Given the description of an element on the screen output the (x, y) to click on. 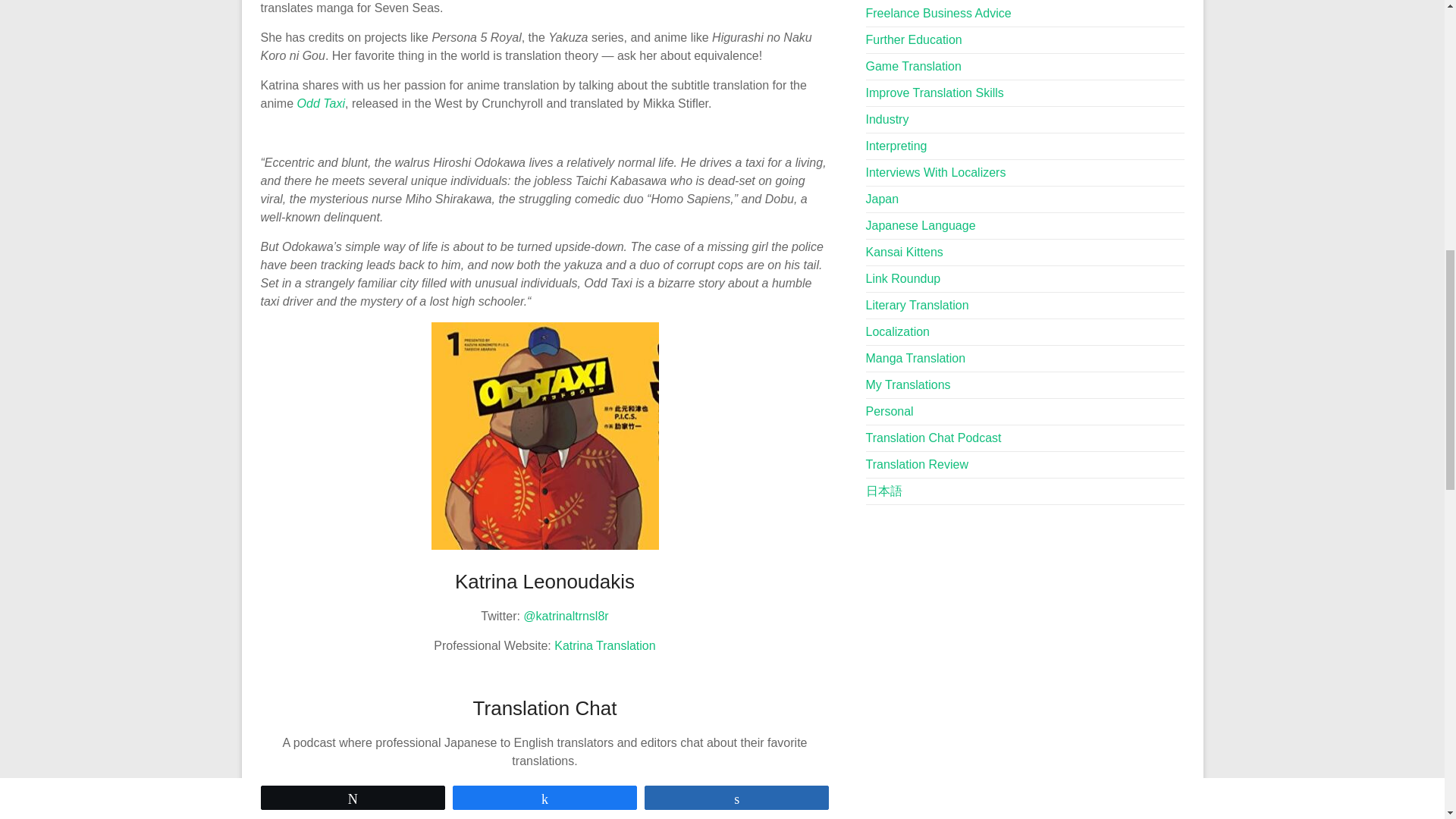
Odd Taxi (321, 103)
Katrina Translation (604, 645)
Alex Valles (569, 816)
